Given the description of an element on the screen output the (x, y) to click on. 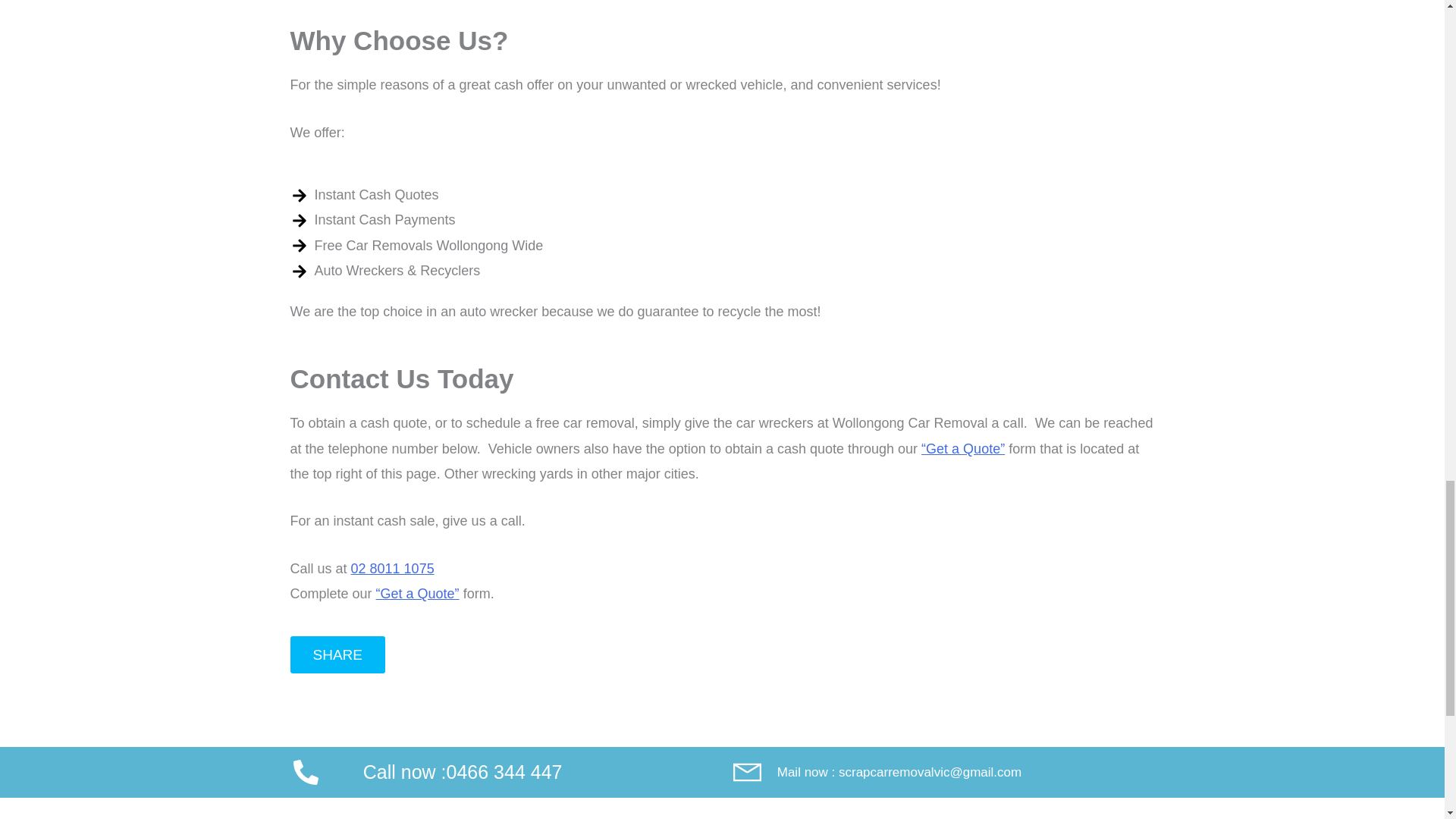
SHARE (336, 654)
Contact Us (417, 593)
Contact Us (962, 448)
02 8011 1075 (391, 568)
02 8011 1075 (391, 568)
